Given the description of an element on the screen output the (x, y) to click on. 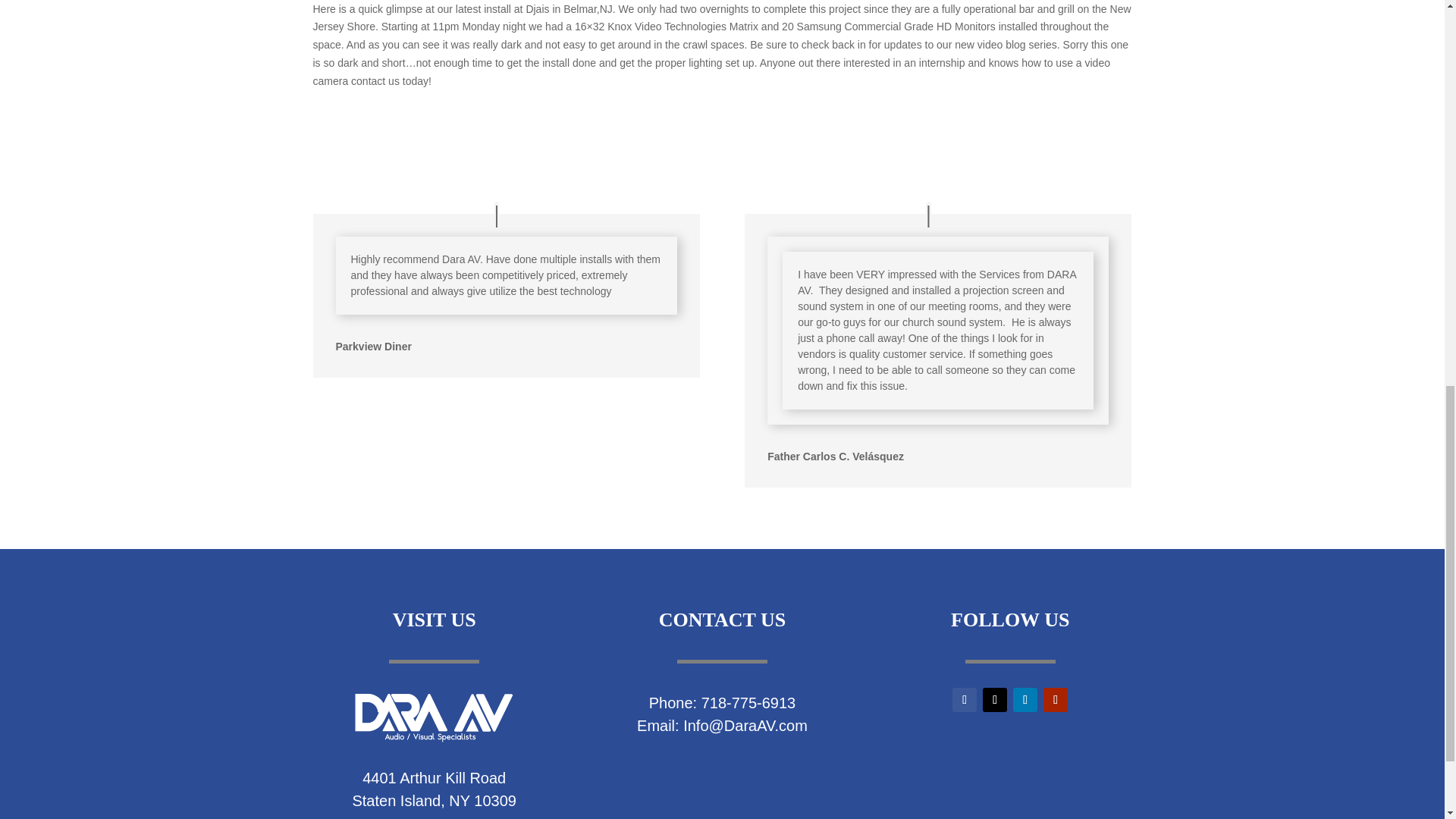
Follow on Youtube (1055, 699)
Follow on X (994, 699)
Follow on LinkedIn (1024, 699)
Follow on Facebook (964, 699)
